Given the description of an element on the screen output the (x, y) to click on. 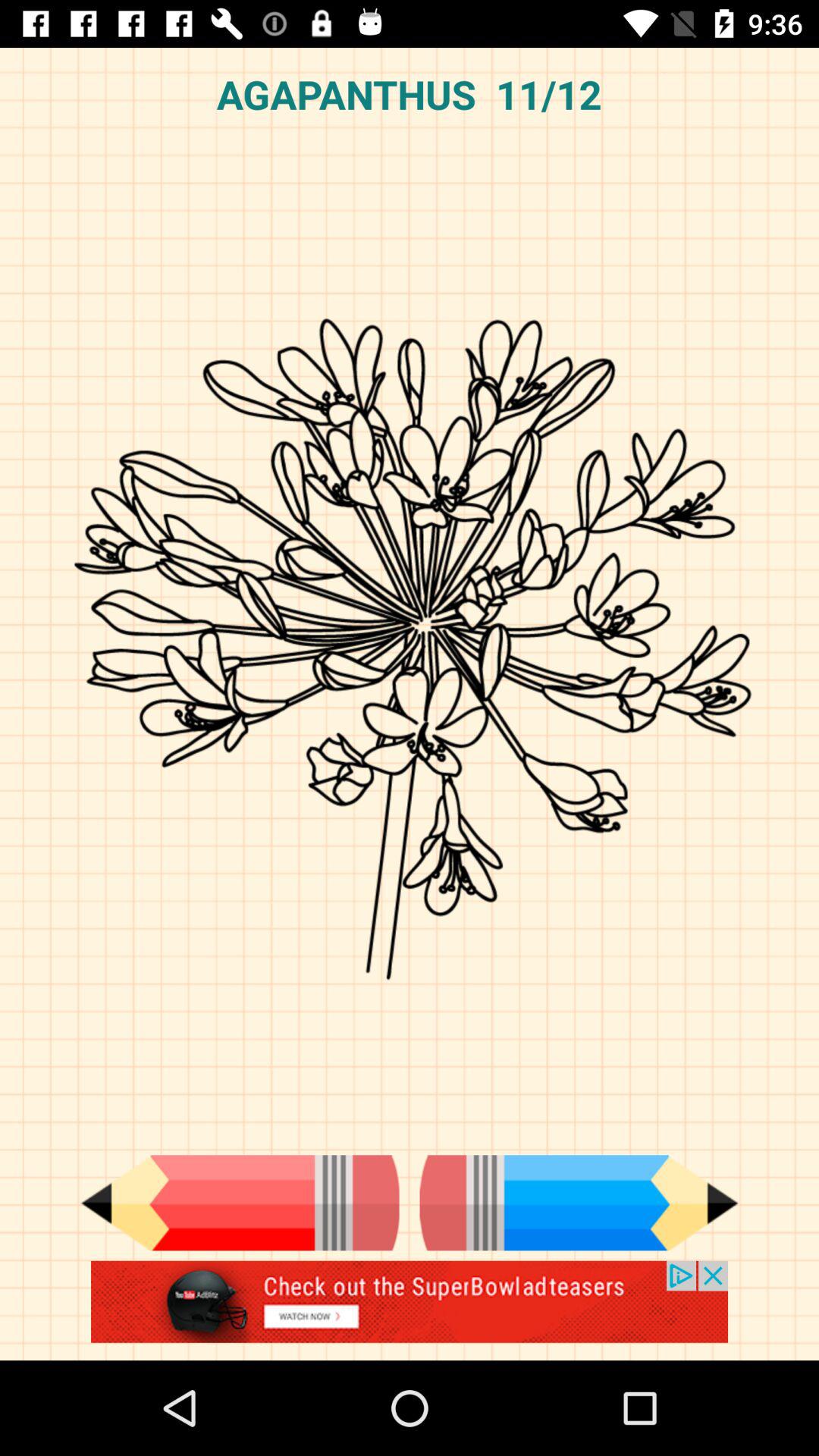
go back to previous drawing (239, 1202)
